Given the description of an element on the screen output the (x, y) to click on. 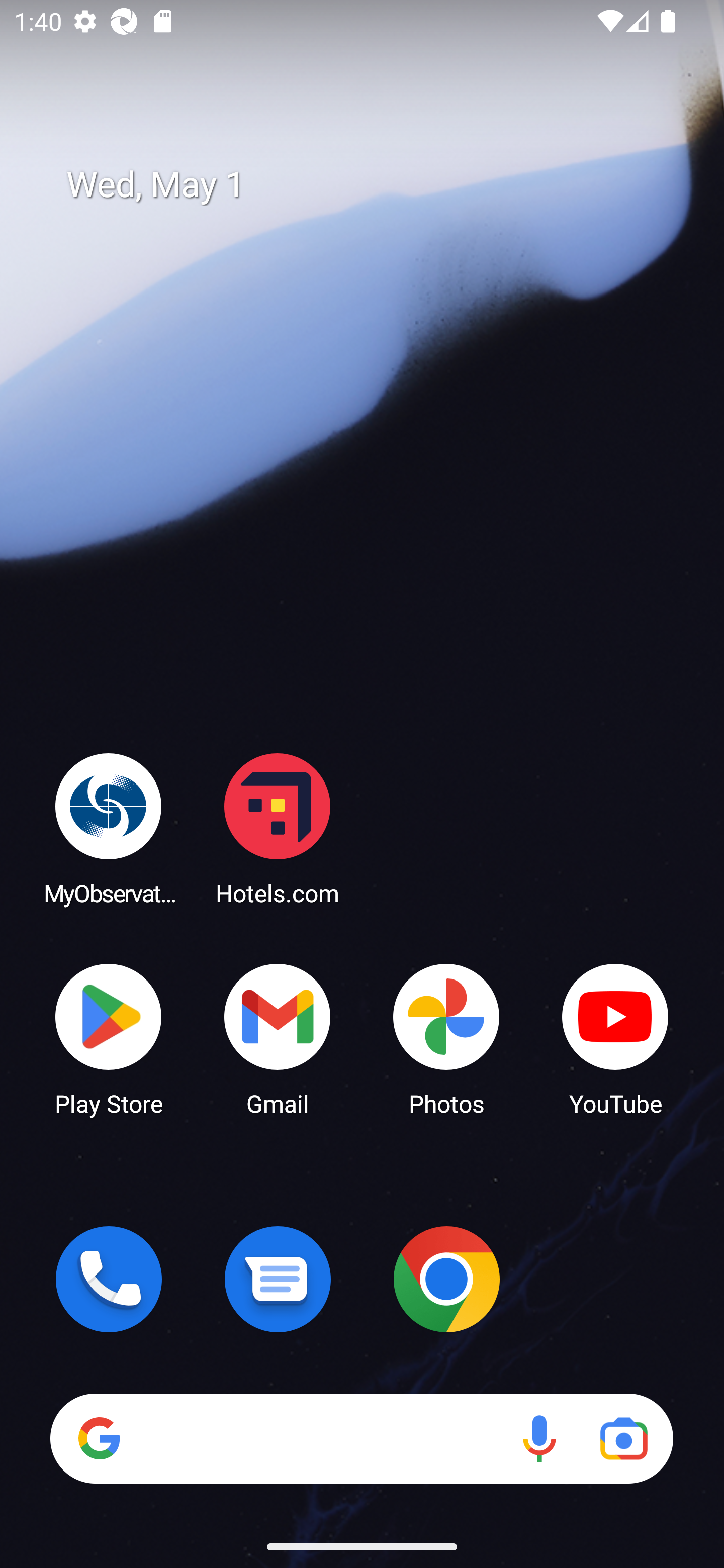
Wed, May 1 (375, 184)
MyObservatory (108, 828)
Hotels.com (277, 828)
Play Store (108, 1038)
Gmail (277, 1038)
Photos (445, 1038)
YouTube (615, 1038)
Phone (108, 1279)
Messages (277, 1279)
Chrome (446, 1279)
Search Voice search Google Lens (361, 1438)
Voice search (539, 1438)
Google Lens (623, 1438)
